Given the description of an element on the screen output the (x, y) to click on. 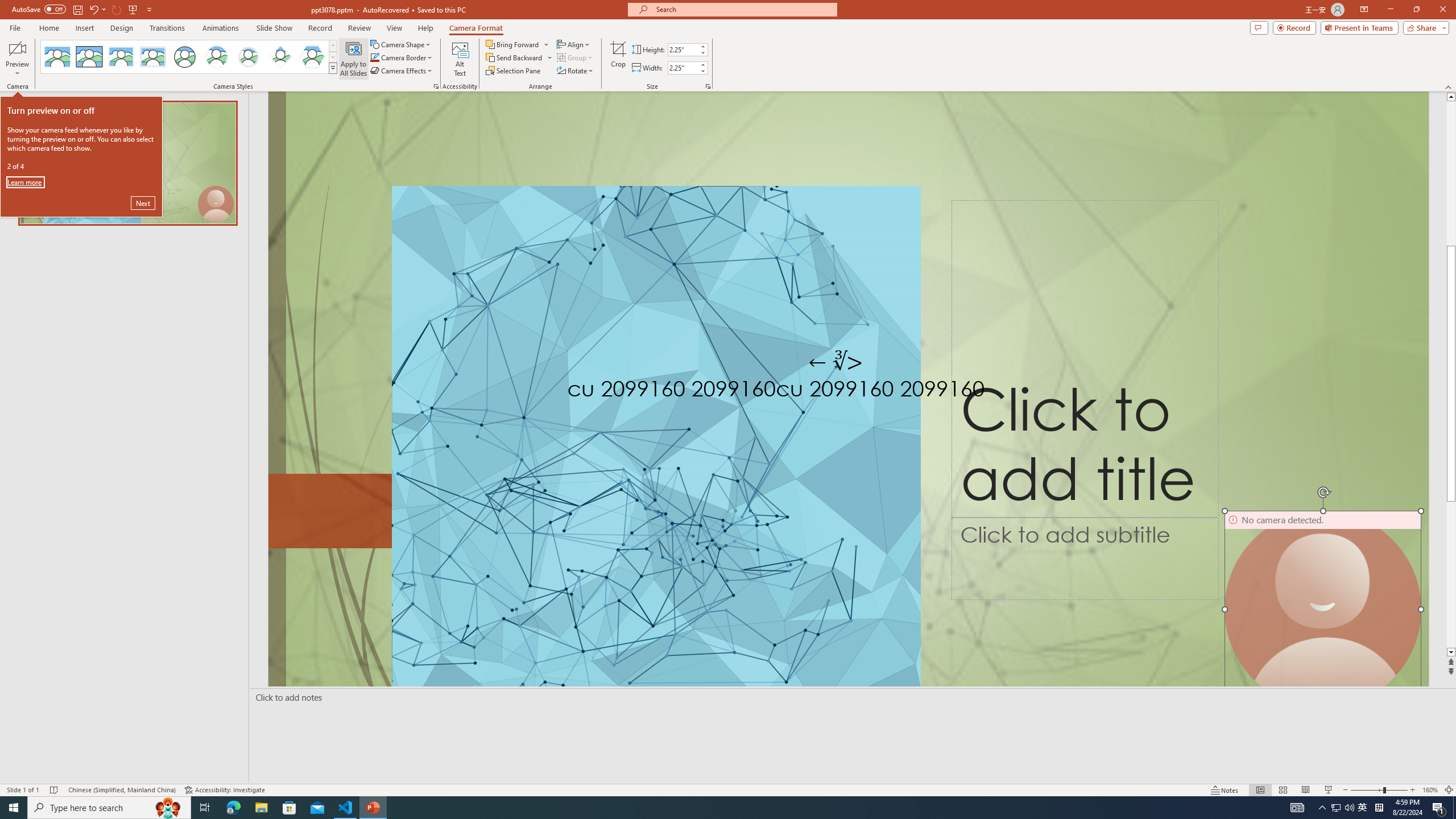
Simple Frame Rectangle (88, 56)
Apply to All Slides (353, 58)
AutomationID: CameoStylesGallery (189, 56)
